Given the description of an element on the screen output the (x, y) to click on. 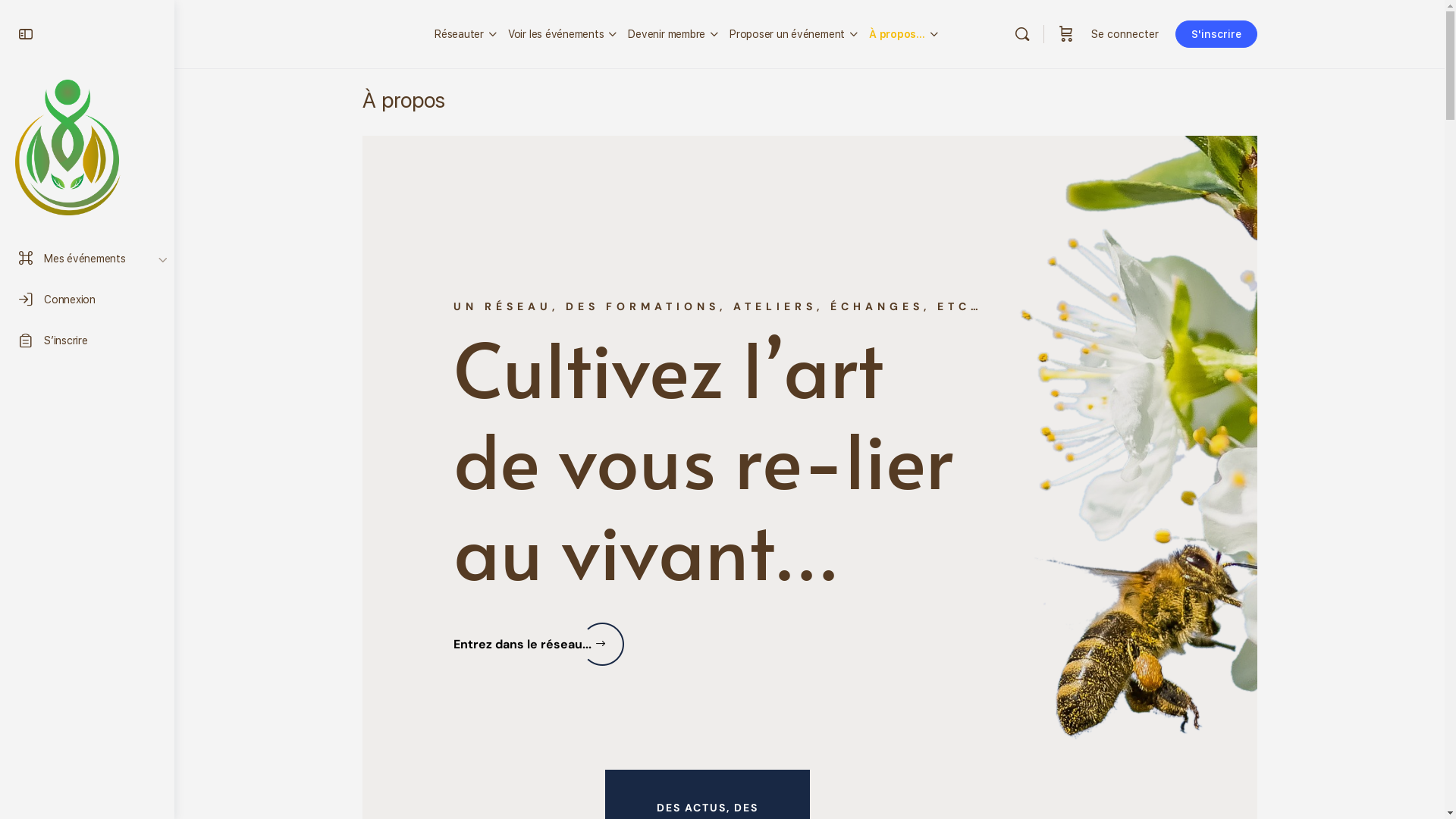
Se connecter Element type: text (1124, 33)
Connexion Element type: text (87, 299)
S'inscrire Element type: text (1216, 33)
Devenir membre Element type: text (666, 34)
